Given the description of an element on the screen output the (x, y) to click on. 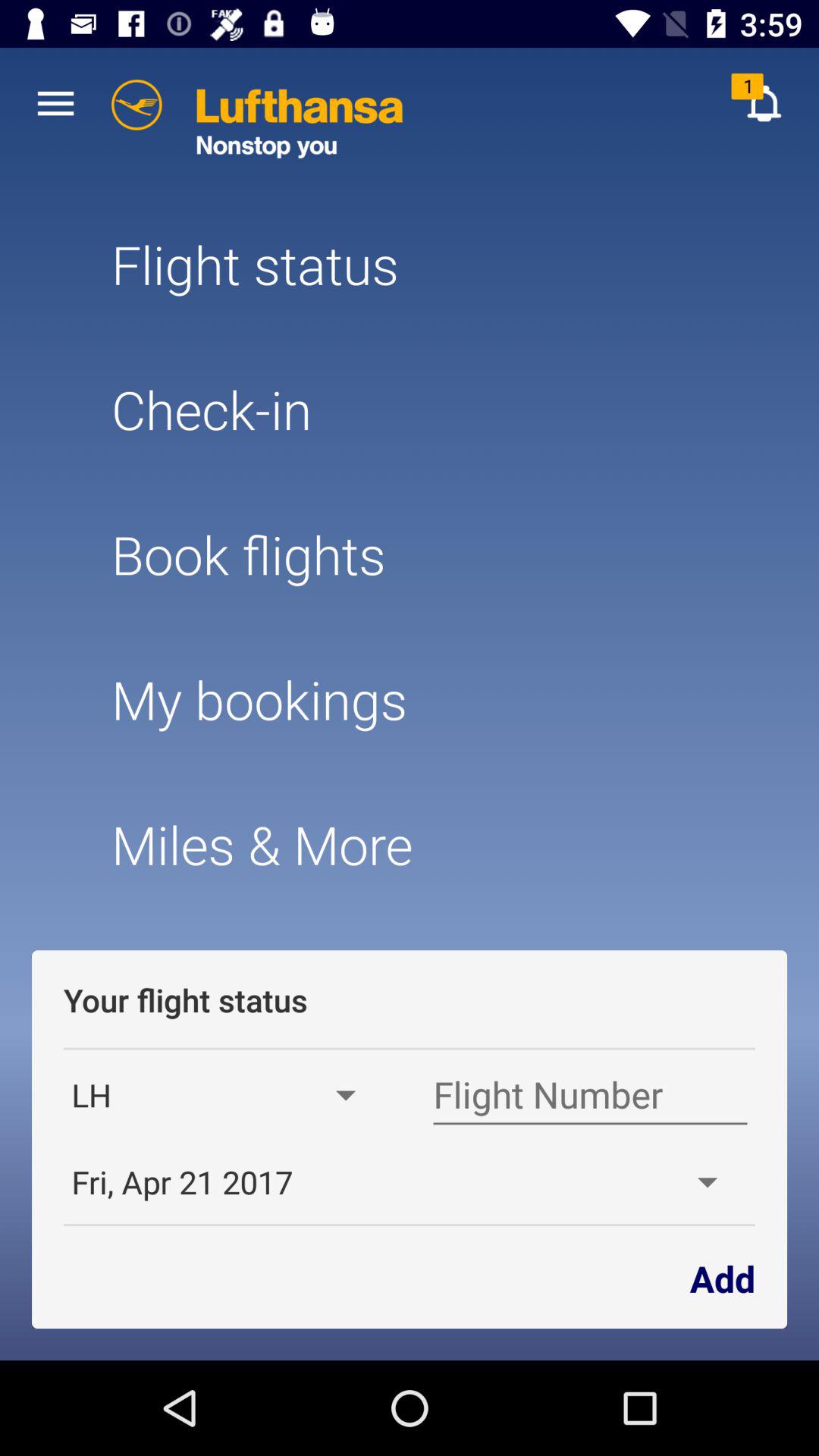
swipe until add icon (722, 1277)
